Given the description of an element on the screen output the (x, y) to click on. 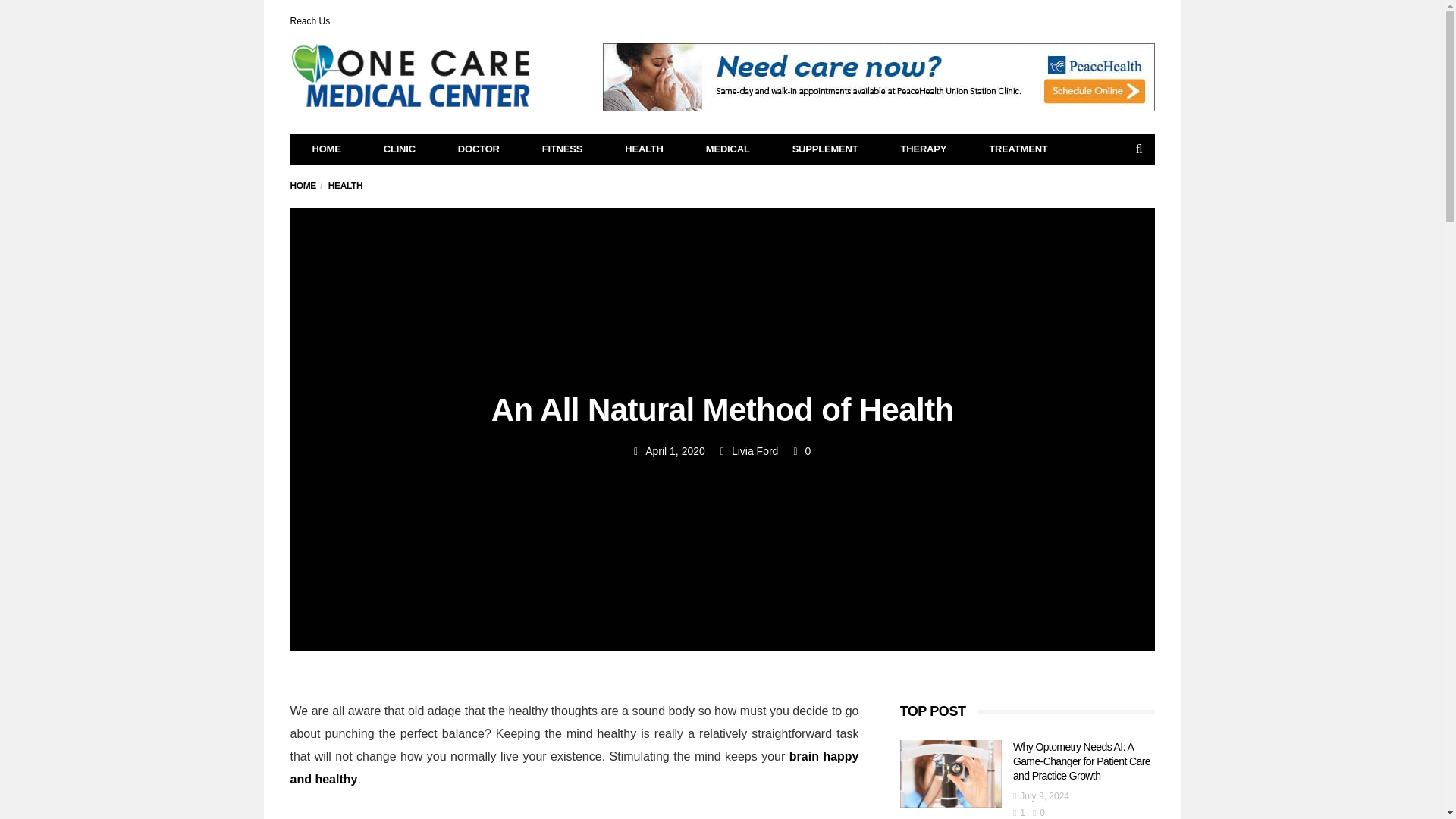
HOME (302, 185)
DOCTOR (478, 149)
MEDICAL (727, 149)
HEALTH (345, 185)
Livia Ford (754, 451)
HOME (326, 149)
brain happy and healthy (574, 767)
TREATMENT (1018, 149)
Reach Us (309, 20)
